Given the description of an element on the screen output the (x, y) to click on. 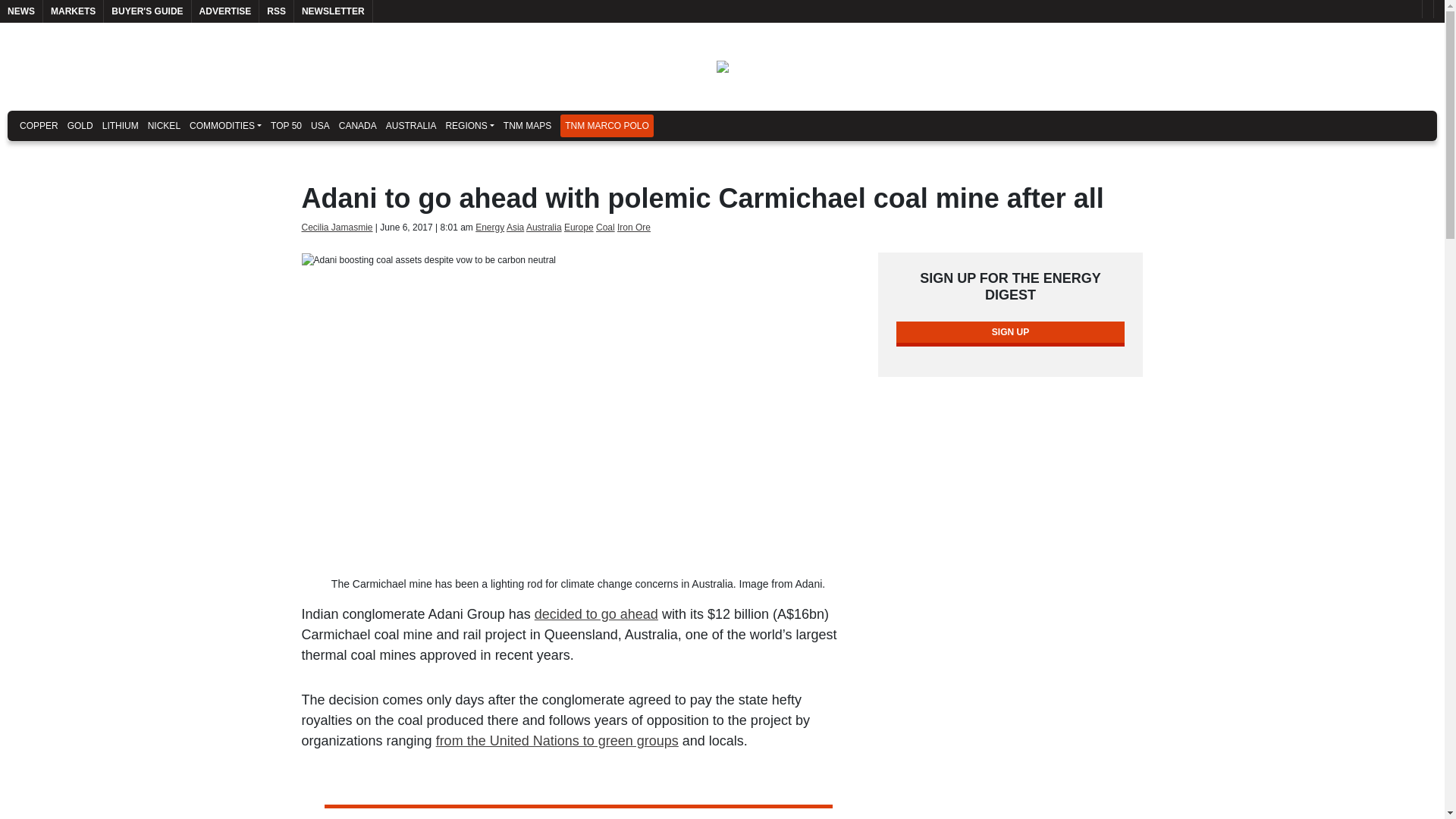
GOLD (79, 125)
NEWSLETTER (333, 11)
MARKETS (73, 11)
ADVERTISE (225, 11)
NICKEL (163, 125)
COPPER (38, 125)
COMMODITIES (225, 125)
LITHIUM (119, 125)
BUYER'S GUIDE (146, 11)
RSS (276, 11)
